Given the description of an element on the screen output the (x, y) to click on. 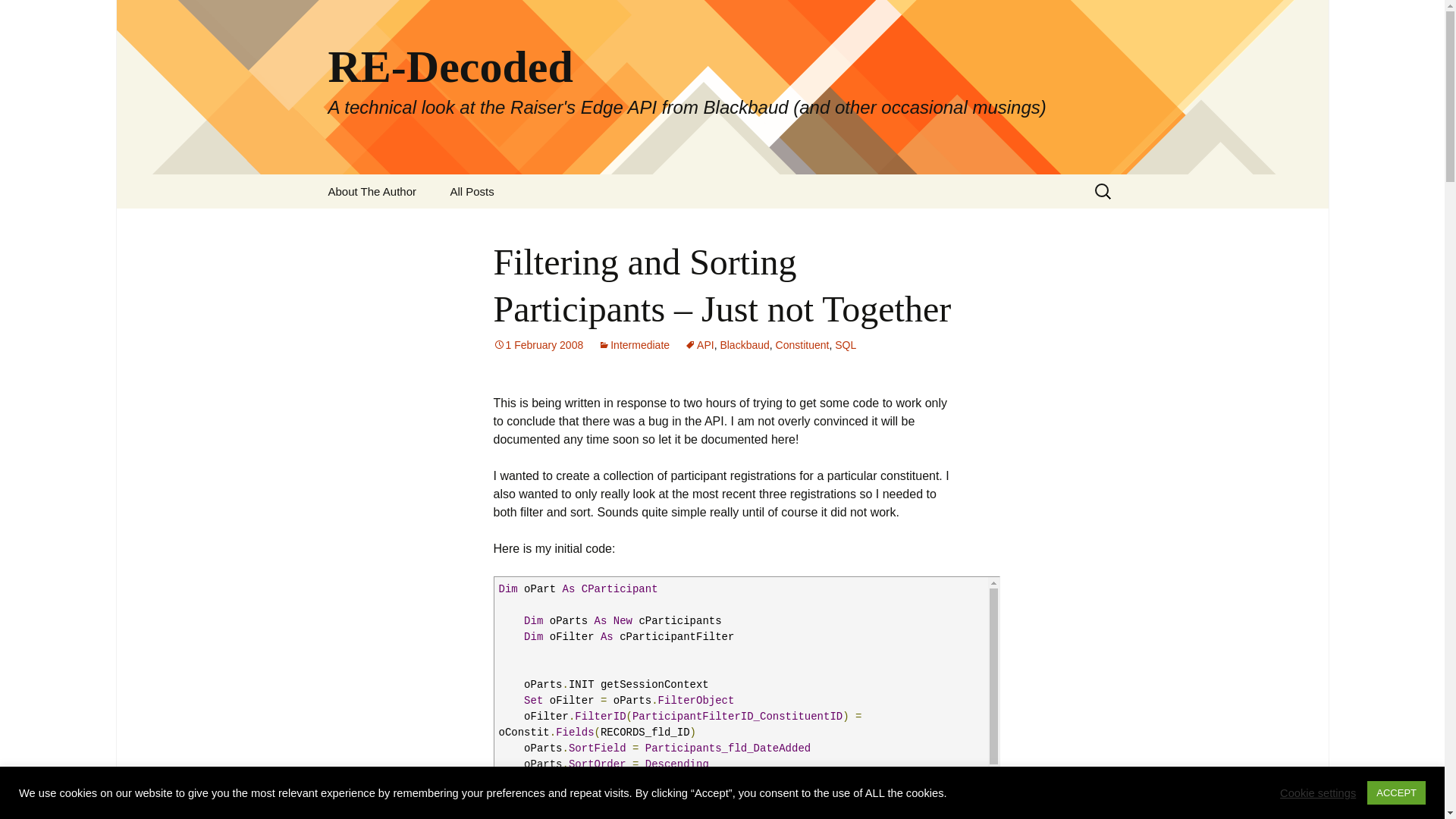
All Posts (470, 191)
Blackbaud (743, 345)
SQL (845, 345)
Constituent (802, 345)
Search (18, 15)
Intermediate (633, 345)
About The Author (371, 191)
1 February 2008 (538, 345)
API (699, 345)
